Given the description of an element on the screen output the (x, y) to click on. 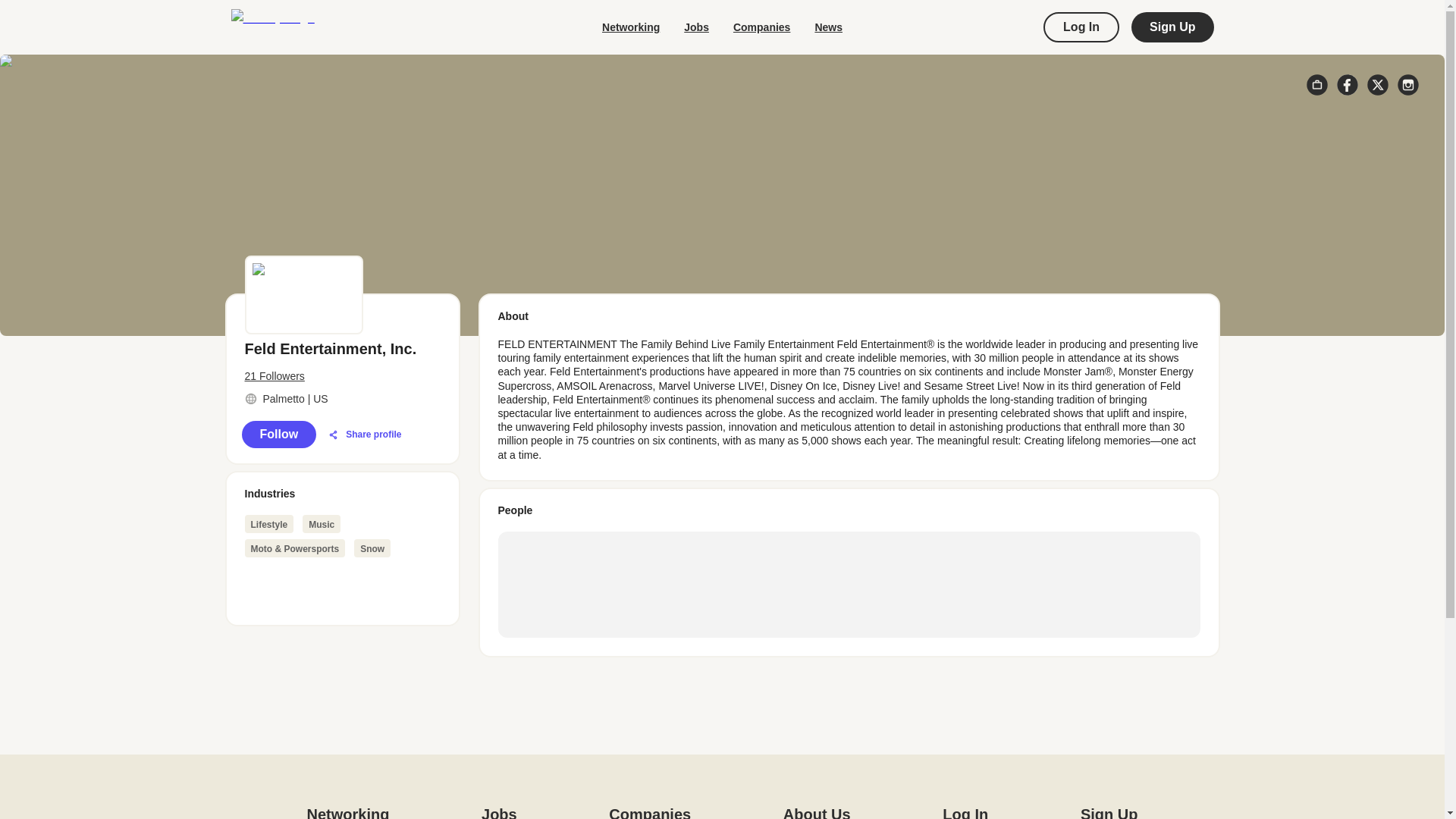
Companies (649, 811)
News (828, 26)
Jobs (498, 811)
Log In (1081, 27)
Companies (761, 26)
Log In (965, 811)
Follow (278, 433)
Sign Up (1109, 811)
Sign Up (1171, 27)
21 Followers (341, 376)
Networking (630, 26)
About Us (816, 811)
Share profile (364, 434)
Networking (346, 811)
Jobs (696, 26)
